Given the description of an element on the screen output the (x, y) to click on. 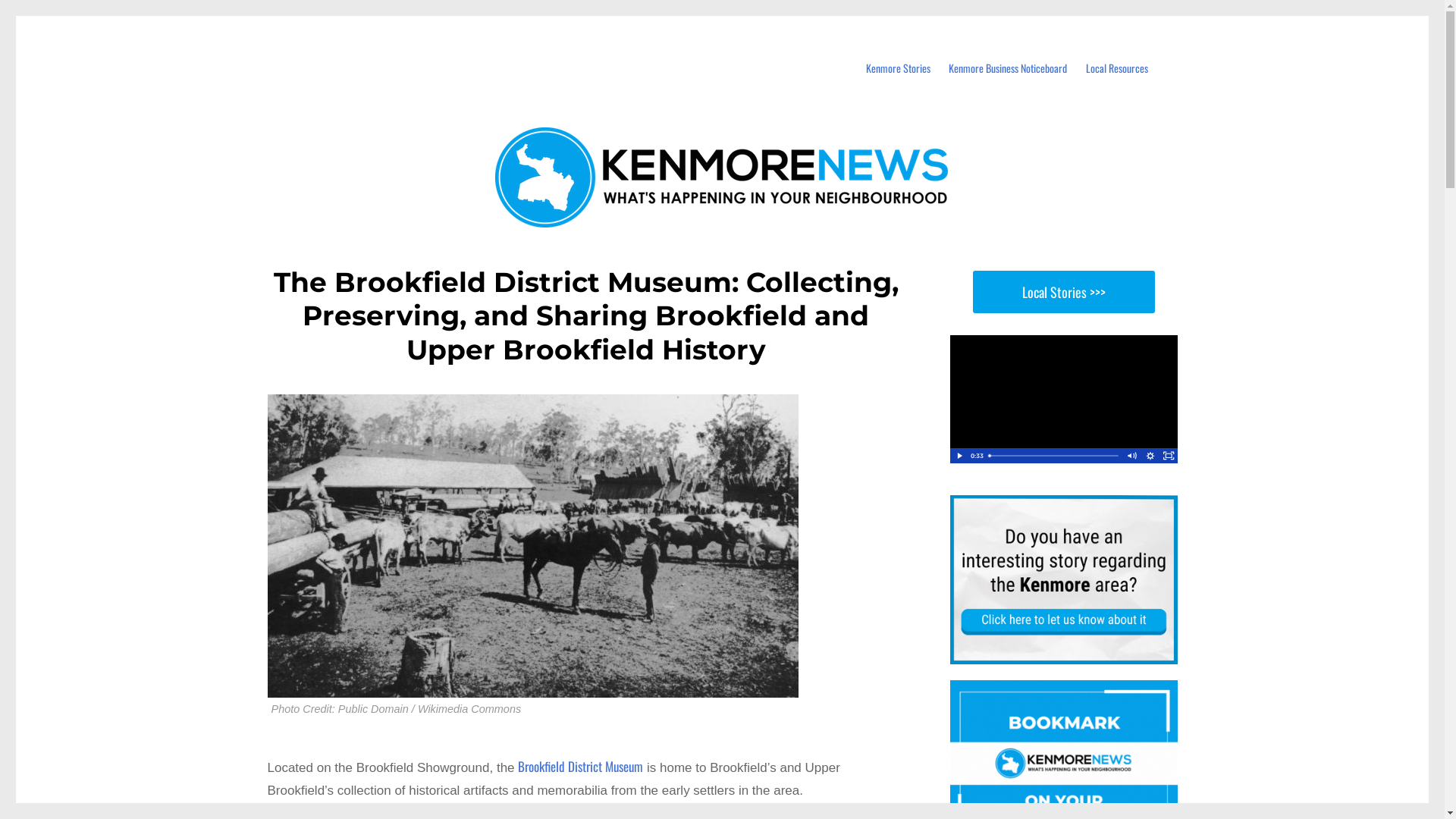
Fullscreen Element type: hover (1167, 455)
Play Video Element type: hover (958, 455)
Local Resources Element type: text (1116, 68)
Kenmore Stories Element type: text (897, 68)
Kenmore Business Noticeboard Element type: text (1007, 68)
Kenmore News Element type: text (354, 44)
Brookfield District Museum Element type: text (580, 765)
Local Stories >>> Element type: text (1063, 291)
Show settings menu Element type: hover (1149, 455)
Mute Element type: hover (1131, 455)
